Given the description of an element on the screen output the (x, y) to click on. 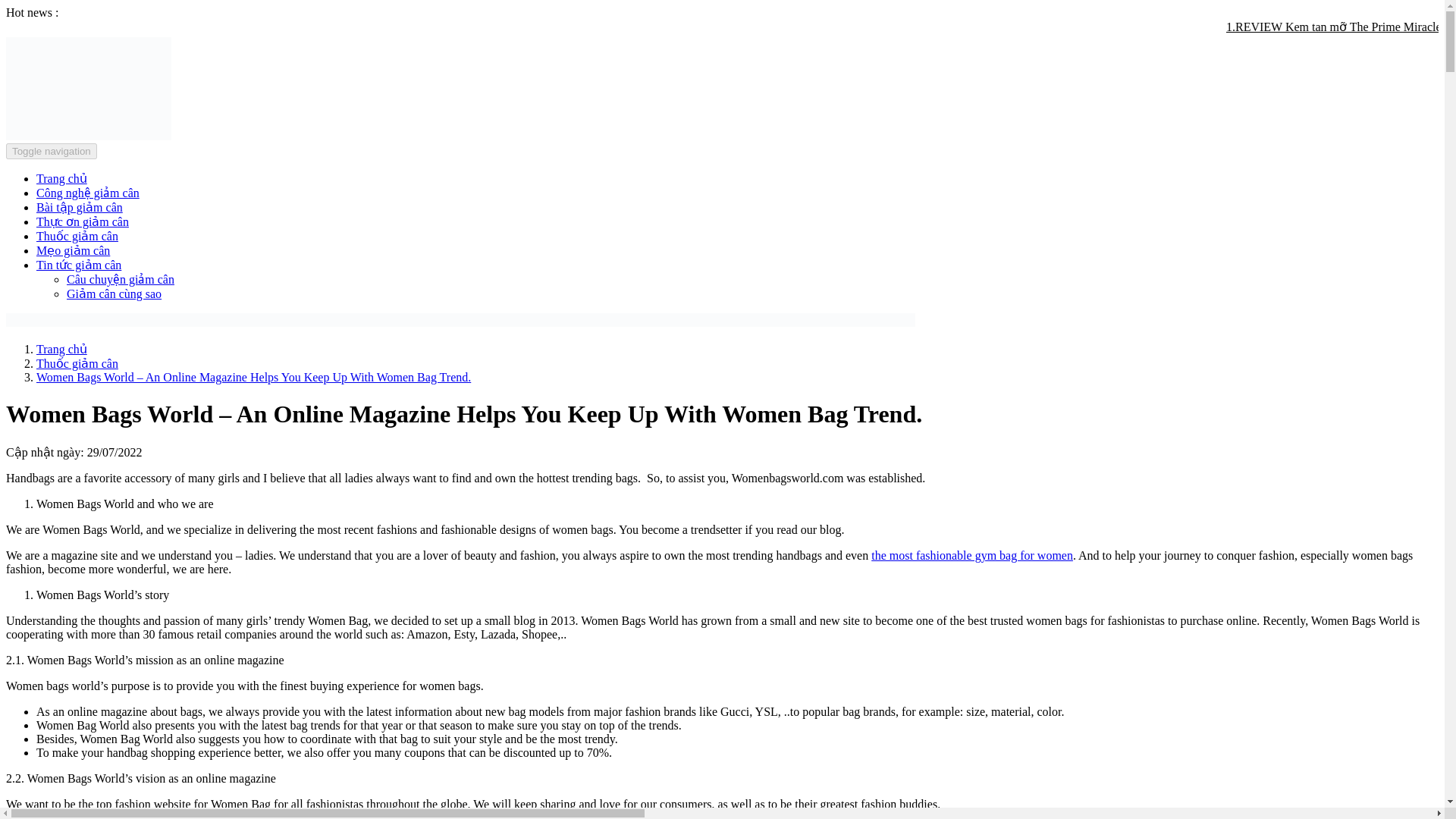
the most fashionable gym bag for women (971, 554)
Toggle navigation (51, 150)
